Given the description of an element on the screen output the (x, y) to click on. 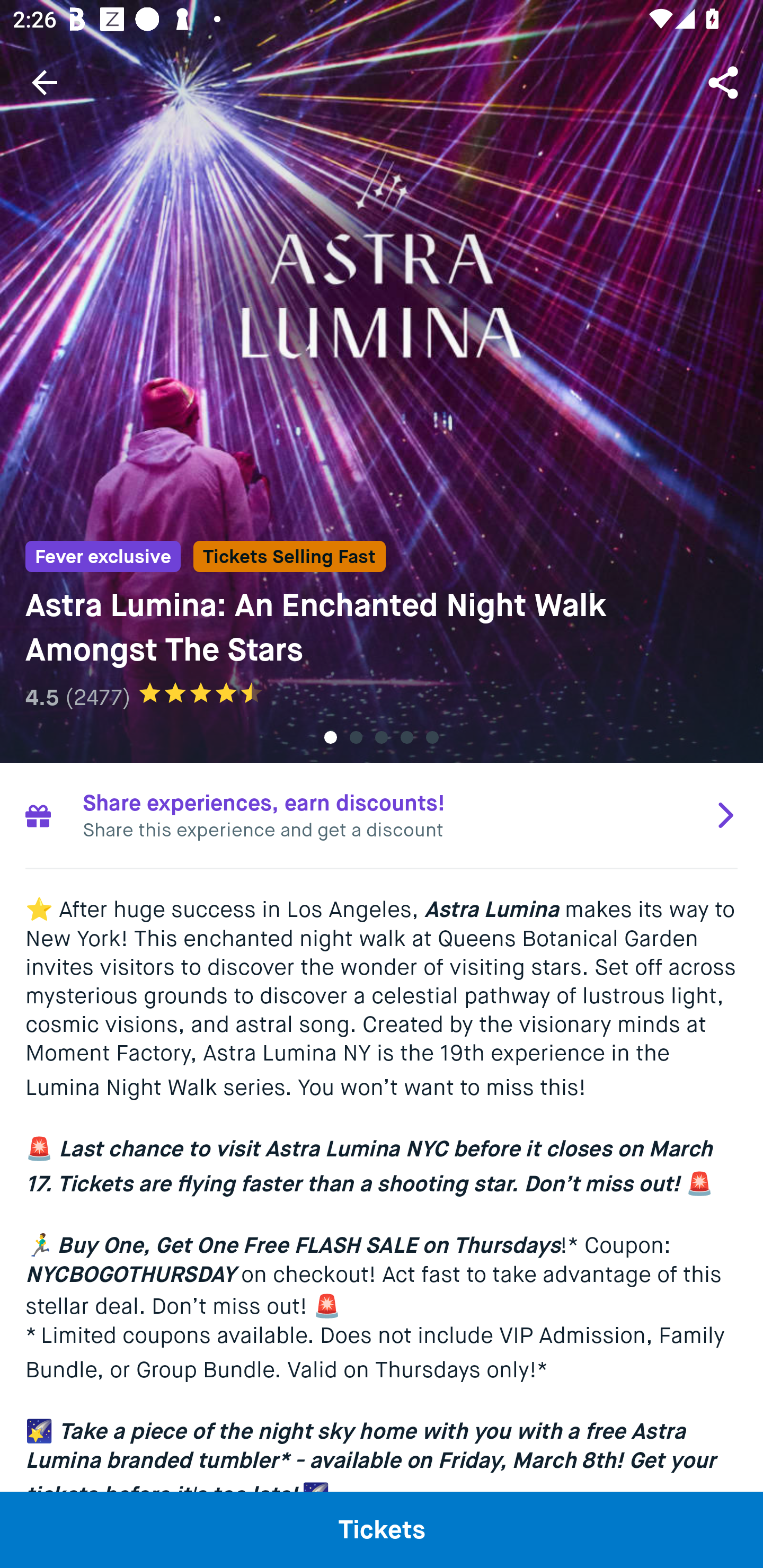
Navigate up (44, 82)
Share (724, 81)
(2477) (97, 697)
Tickets (381, 1529)
